Given the description of an element on the screen output the (x, y) to click on. 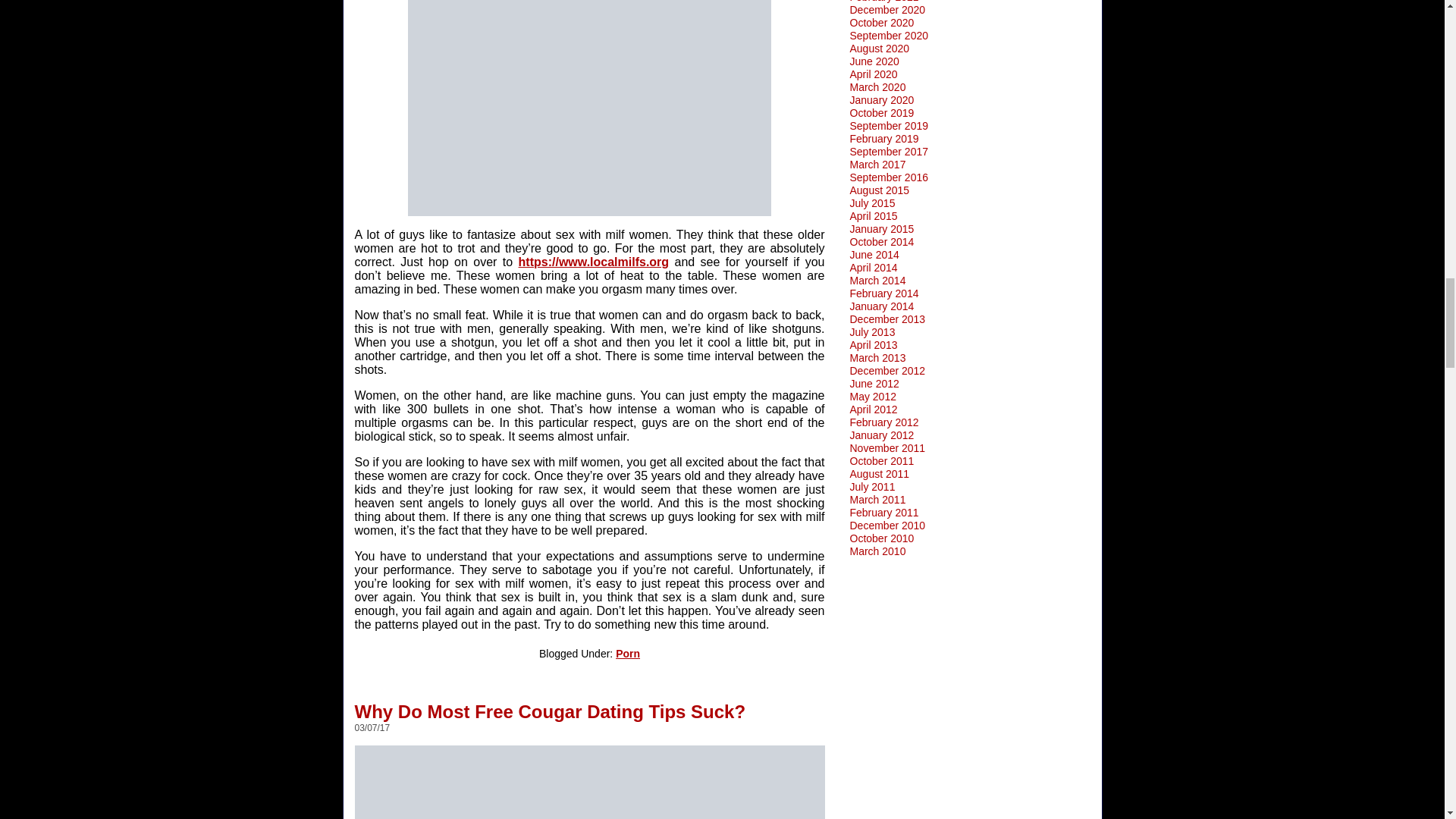
Porn (627, 653)
Why Do Most Free Cougar Dating Tips Suck? (550, 705)
valetta (590, 782)
rusha (589, 108)
